Given the description of an element on the screen output the (x, y) to click on. 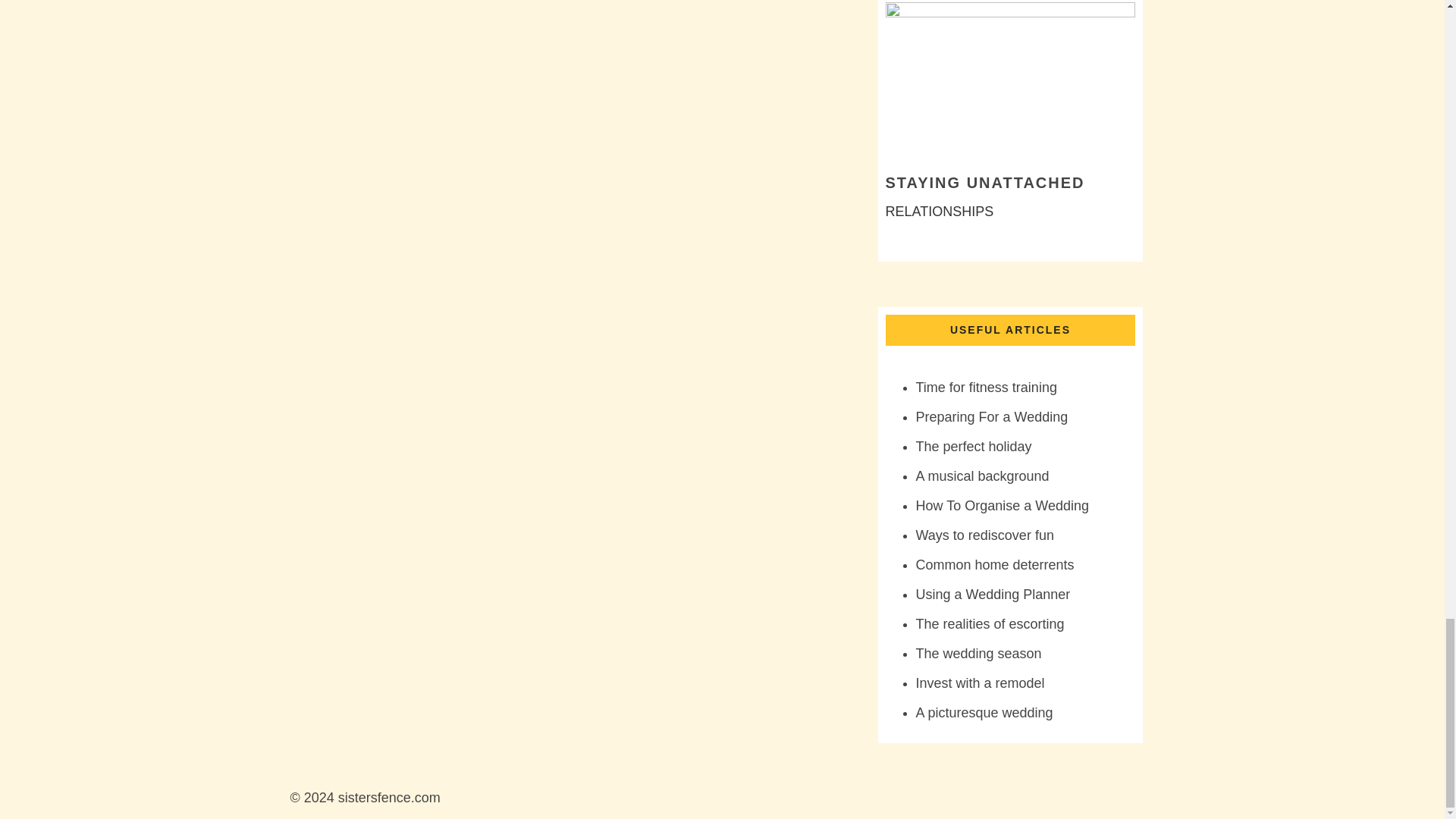
Preparing For a Wedding (991, 417)
Time for fitness training (986, 387)
RELATIONSHIPS (939, 211)
The perfect holiday (973, 446)
STAYING UNATTACHED (984, 182)
